Given the description of an element on the screen output the (x, y) to click on. 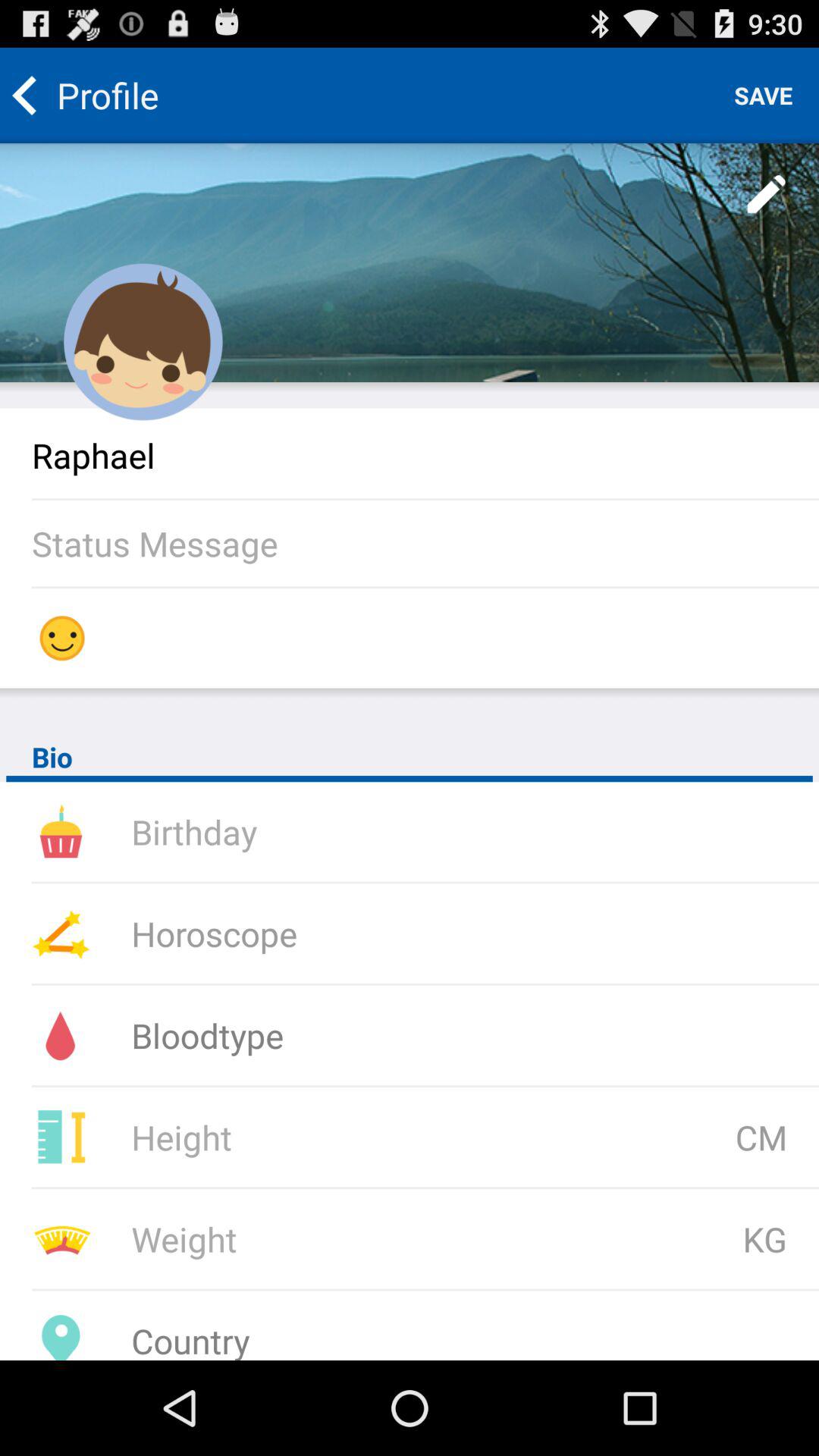
edit photo (767, 194)
